Given the description of an element on the screen output the (x, y) to click on. 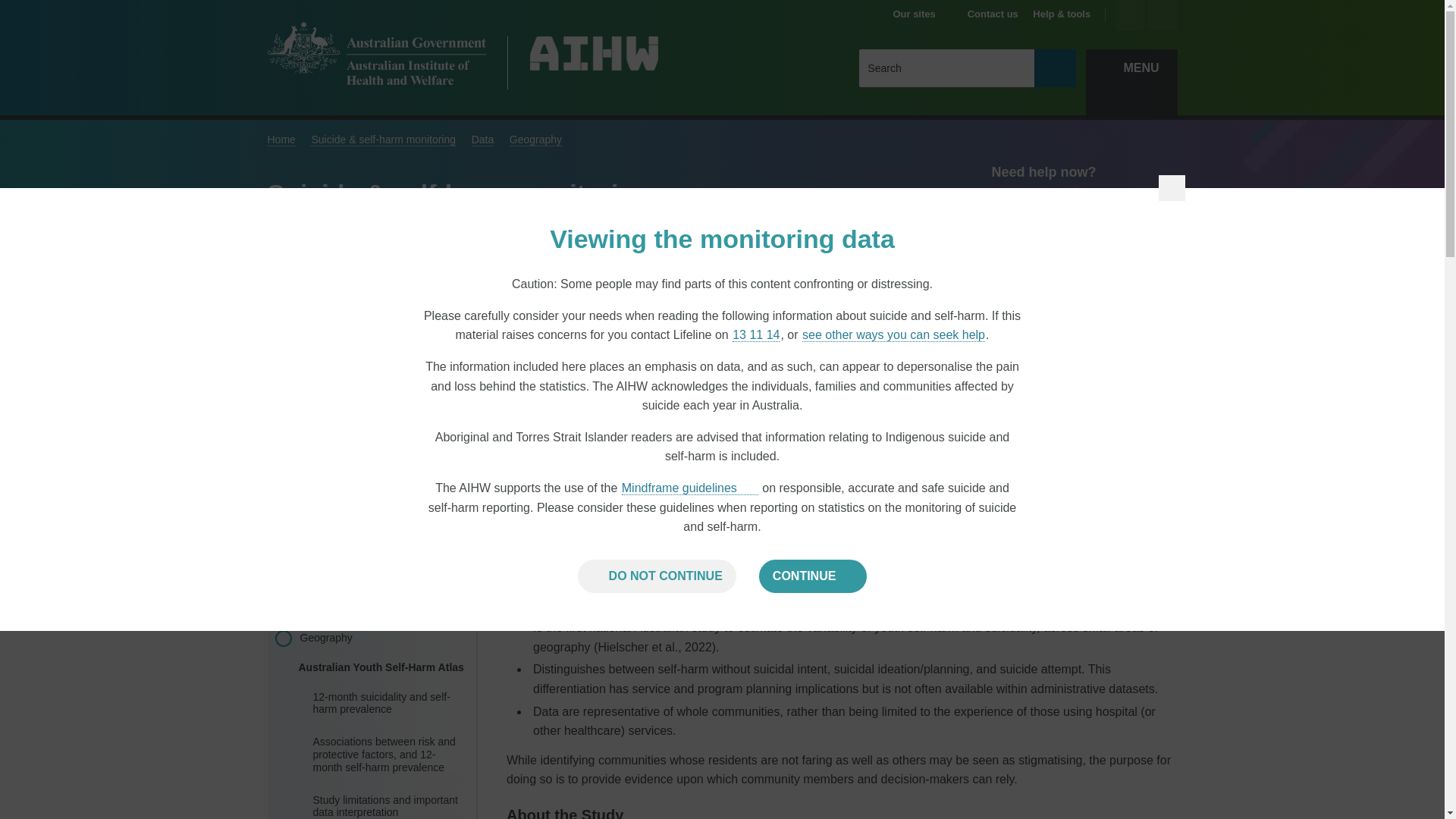
Contact us (992, 14)
MENU (1131, 67)
Our sites (921, 14)
Visit the data page (1141, 325)
Australian Institute of Health and Welfare (375, 53)
Increase text size (1130, 15)
Decrease text size (1162, 15)
Search (1054, 67)
